Given the description of an element on the screen output the (x, y) to click on. 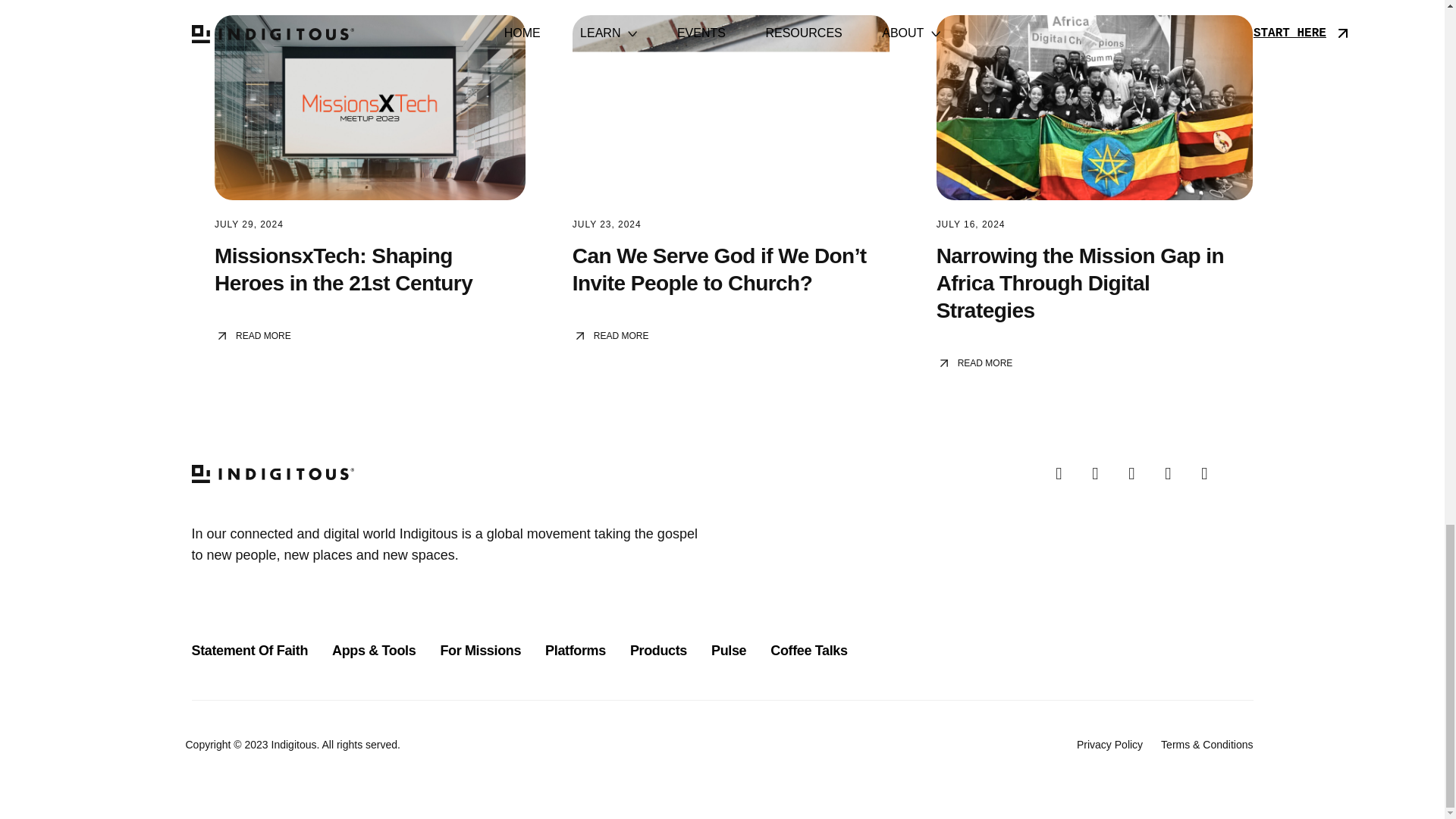
YouTube (1210, 474)
MissionsxTech: Shaping Heroes in the 21st Century (342, 269)
Instagram (1101, 474)
Slack (1173, 474)
Facebook (1064, 474)
READ MORE (369, 335)
Indigitous (289, 473)
Twitter (1137, 474)
